Given the description of an element on the screen output the (x, y) to click on. 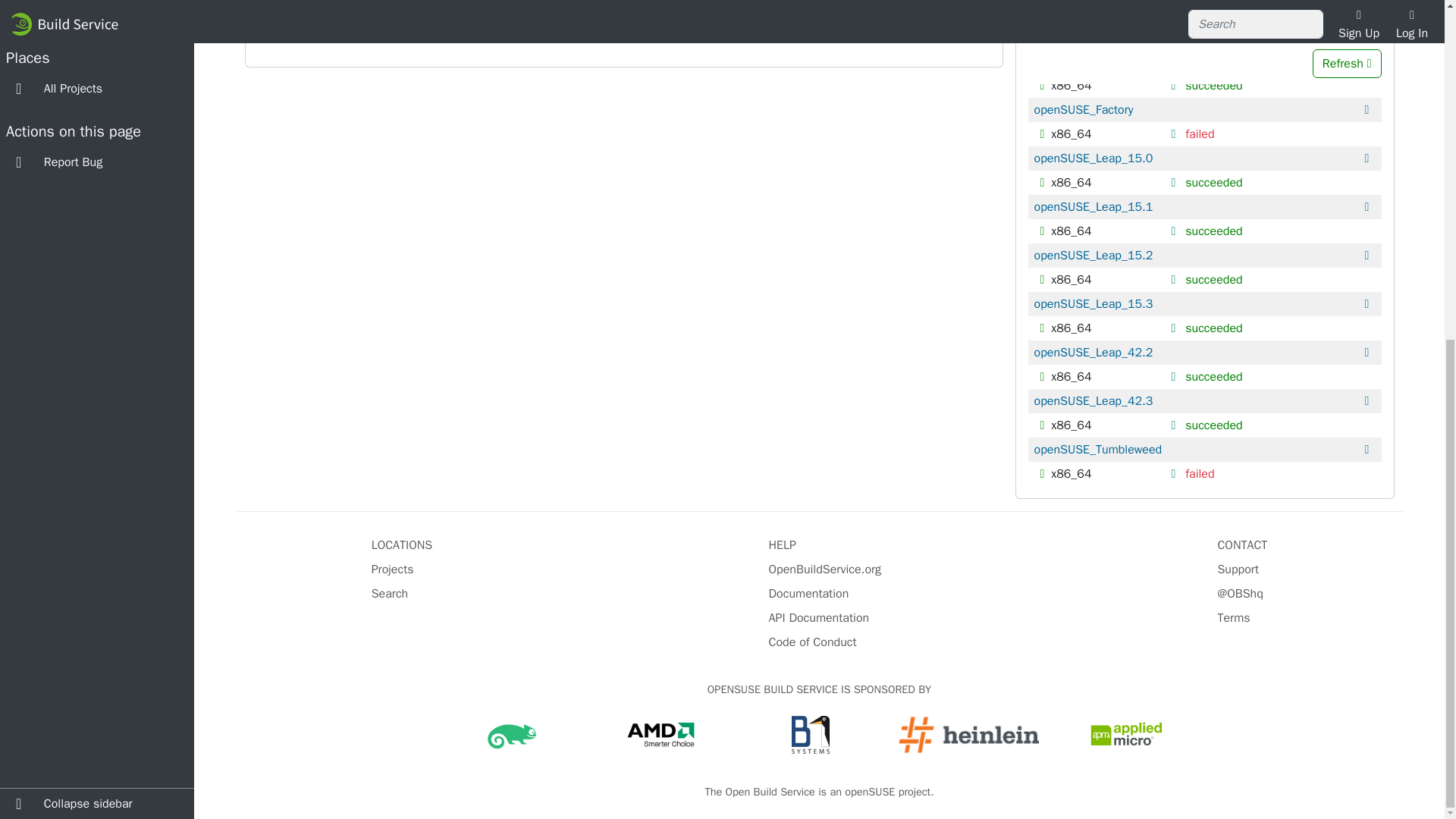
Collapse sidebar (96, 227)
failed (1199, 133)
failed (1199, 37)
succeeded (1213, 85)
